Given the description of an element on the screen output the (x, y) to click on. 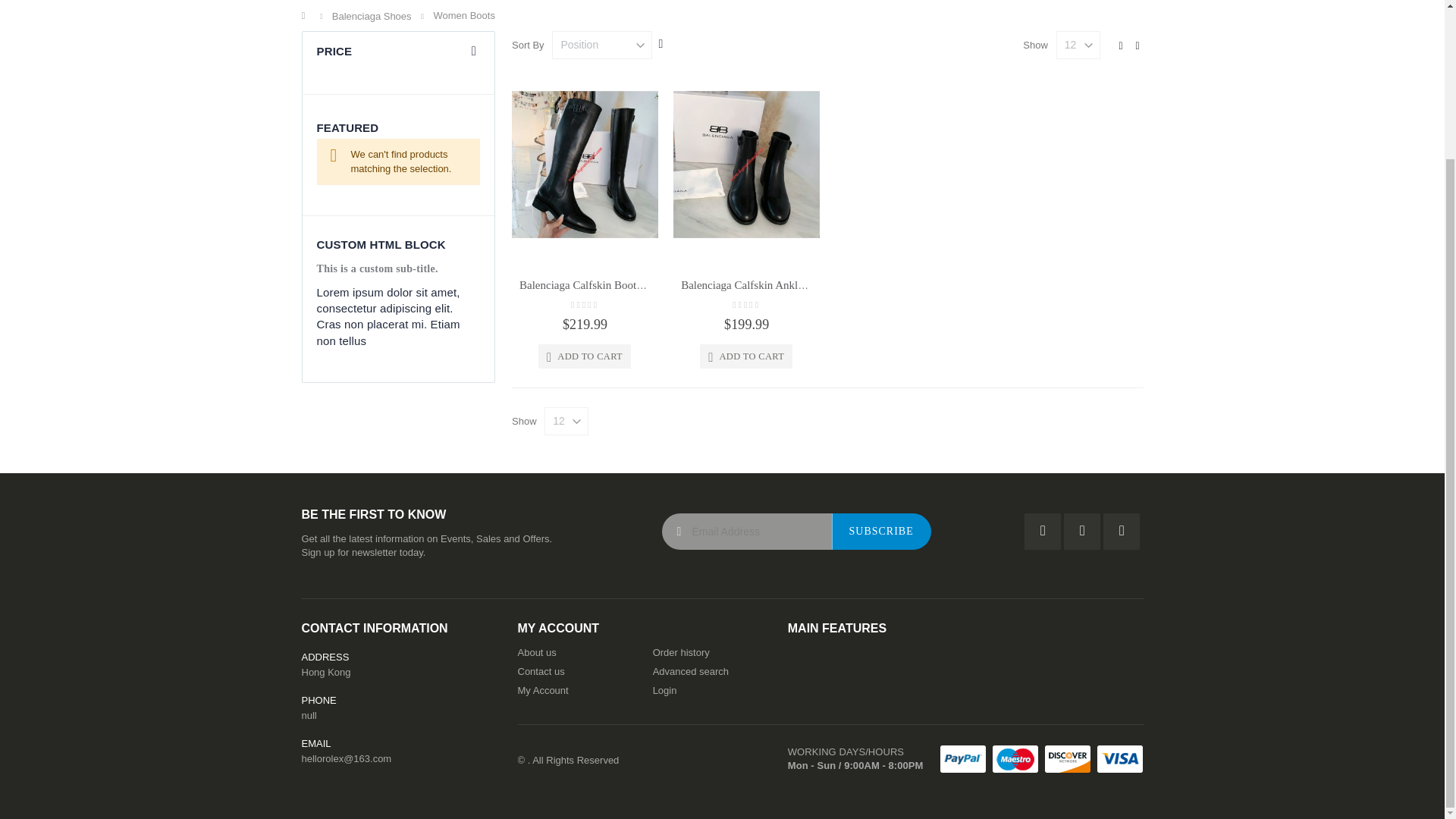
Balenciaga Shoes (371, 16)
